Given the description of an element on the screen output the (x, y) to click on. 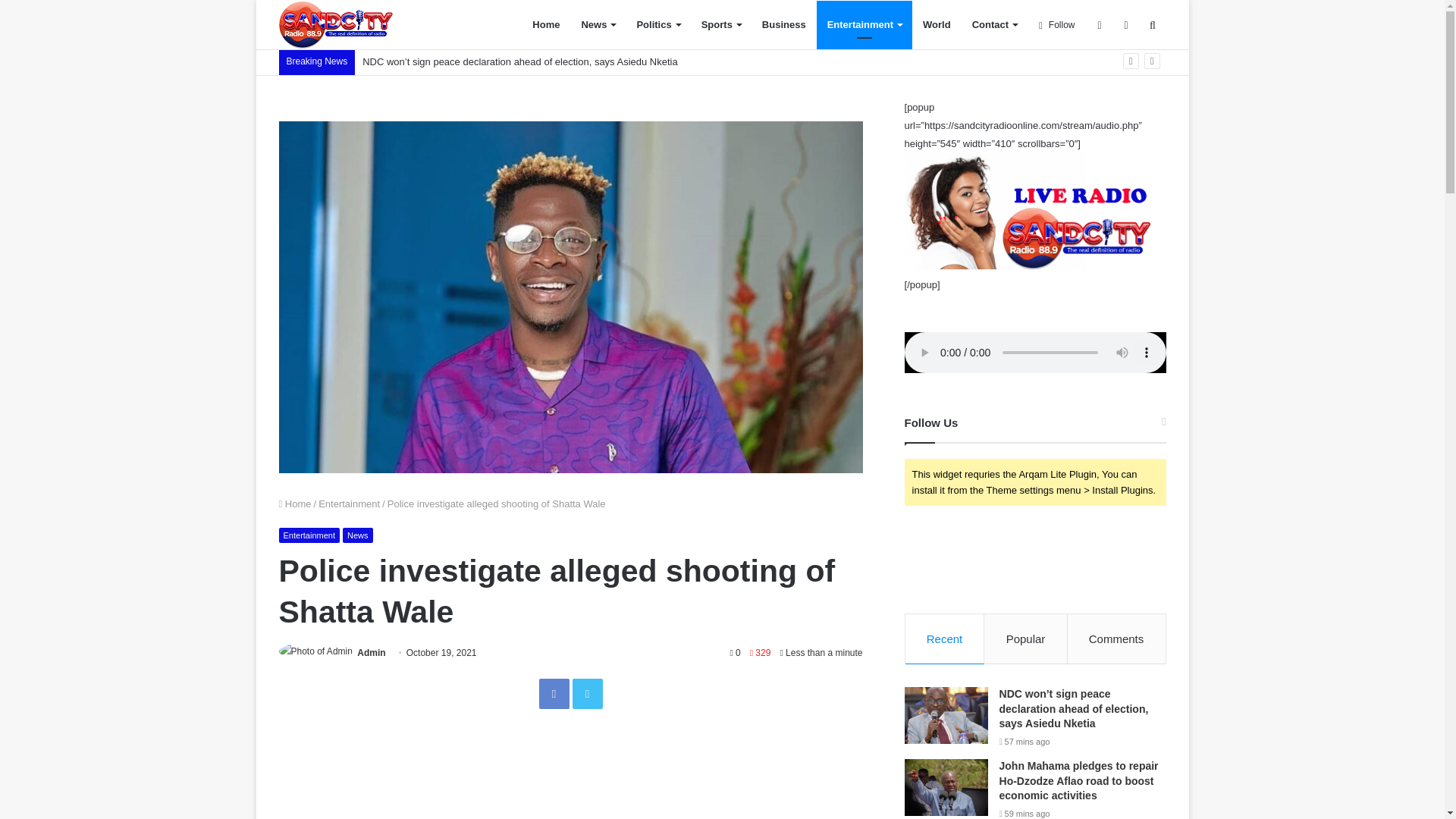
Entertainment (309, 534)
News (357, 534)
Entertainment (349, 503)
Sports (720, 24)
Follow (1056, 24)
World (936, 24)
News (598, 24)
Contact (993, 24)
Home (545, 24)
Entertainment (864, 24)
